Given the description of an element on the screen output the (x, y) to click on. 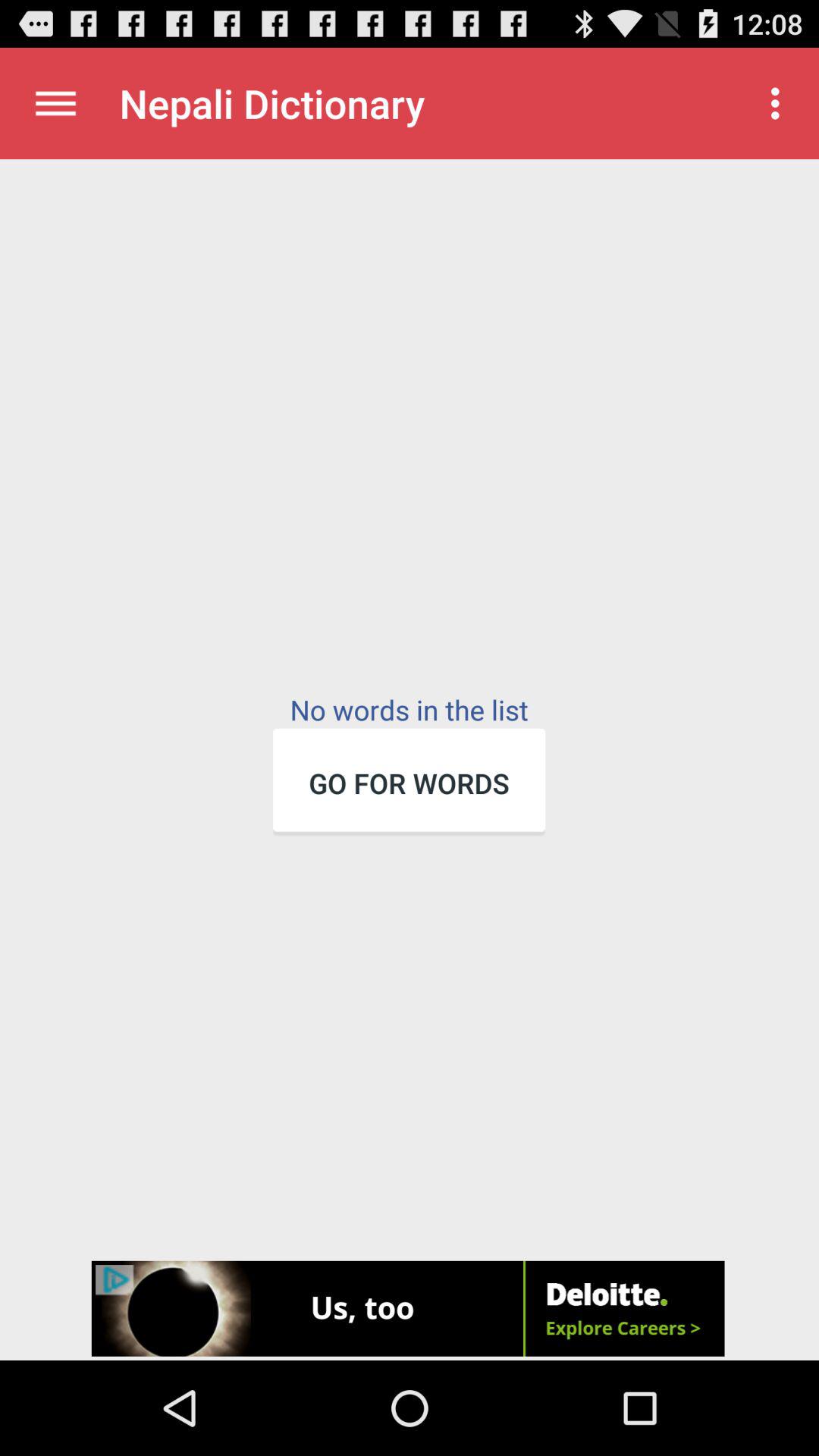
advertisement (409, 1310)
